Given the description of an element on the screen output the (x, y) to click on. 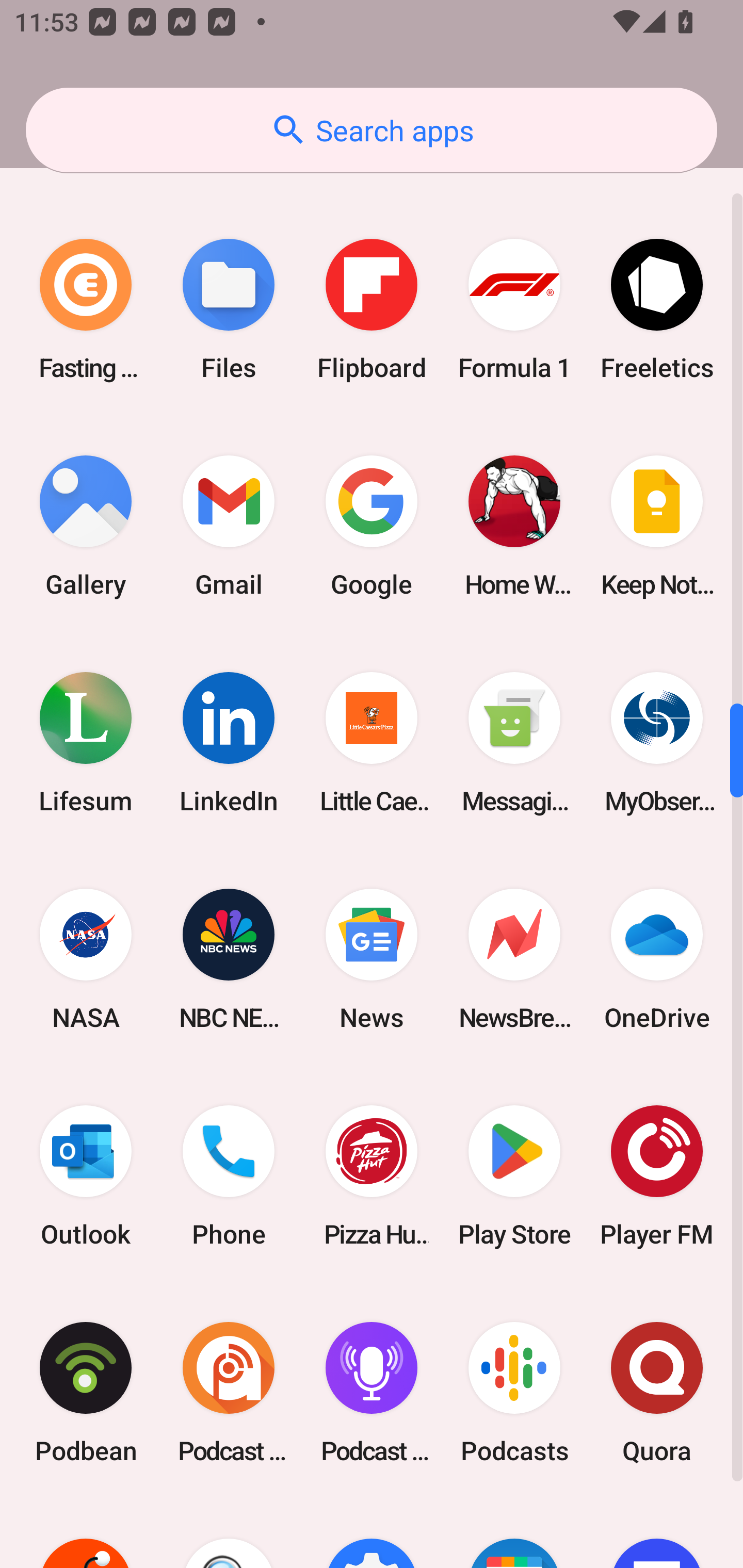
  Search apps (371, 130)
Fasting Coach (85, 308)
Files (228, 308)
Flipboard (371, 308)
Formula 1 (514, 308)
Freeletics (656, 308)
Gallery (85, 526)
Gmail (228, 526)
Google (371, 526)
Home Workout (514, 526)
Keep Notes (656, 526)
Lifesum (85, 743)
LinkedIn (228, 743)
Little Caesars Pizza (371, 743)
Messaging (514, 743)
MyObservatory (656, 743)
NASA (85, 959)
NBC NEWS (228, 959)
News (371, 959)
NewsBreak (514, 959)
OneDrive (656, 959)
Outlook (85, 1175)
Phone (228, 1175)
Pizza Hut HK & Macau (371, 1175)
Play Store (514, 1175)
Player FM (656, 1175)
Podbean (85, 1392)
Podcast Addict (228, 1392)
Podcast Player (371, 1392)
Podcasts (514, 1392)
Quora (656, 1392)
